Given the description of an element on the screen output the (x, y) to click on. 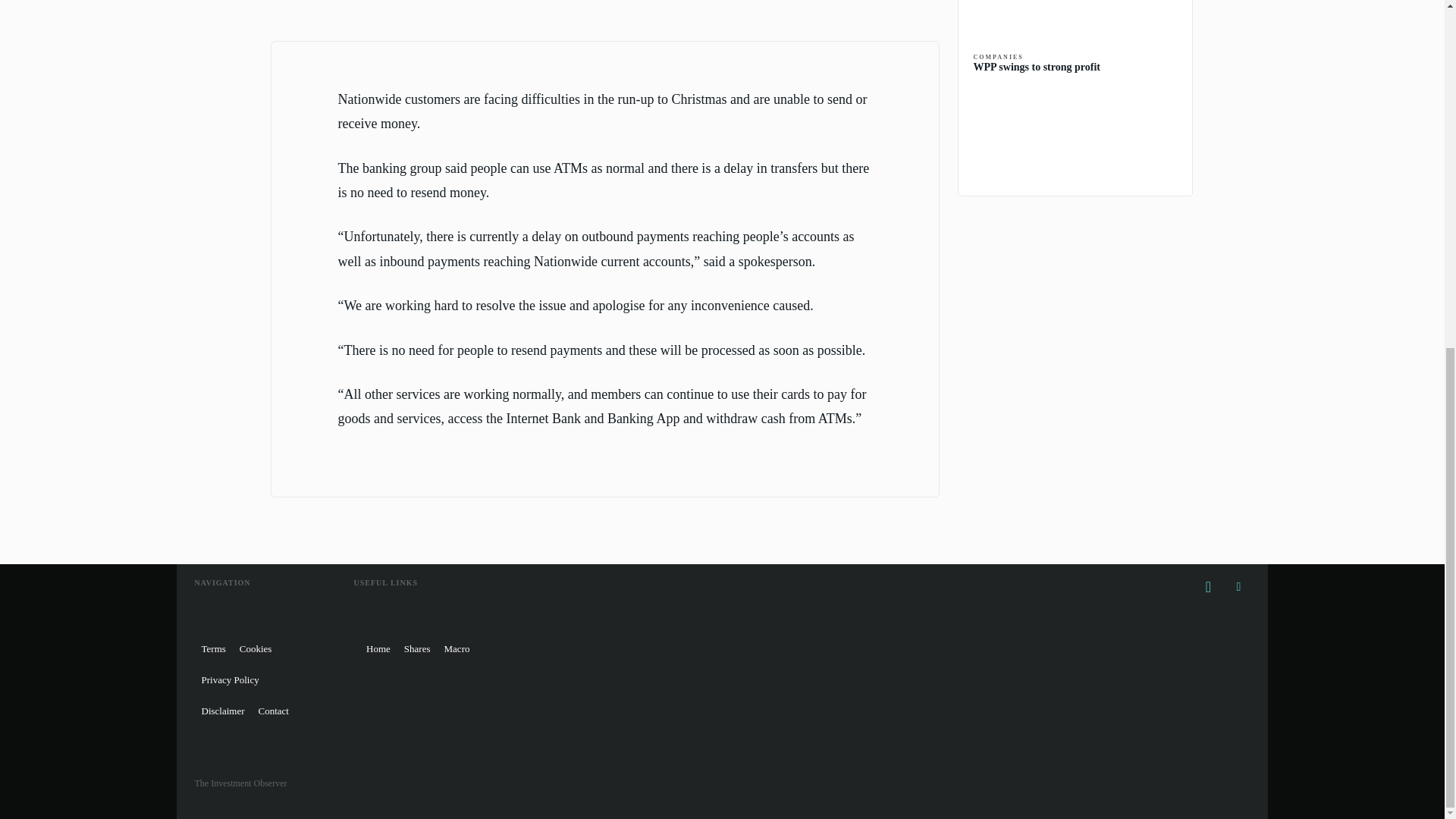
WPP swings to strong profit (1075, 129)
COMPANIES (998, 57)
Shares (417, 648)
Cookies (255, 648)
Privacy Policy (228, 679)
WPP swings to strong profit (1037, 66)
Home (378, 648)
Safiya Bashir (318, 1)
WPP swings to strong profit (1037, 66)
Contact (273, 710)
Disclaimer (221, 710)
Terms (212, 648)
Co-Op Bank swings to profit (1075, 14)
Facebook (1208, 586)
Macro (457, 648)
